Given the description of an element on the screen output the (x, y) to click on. 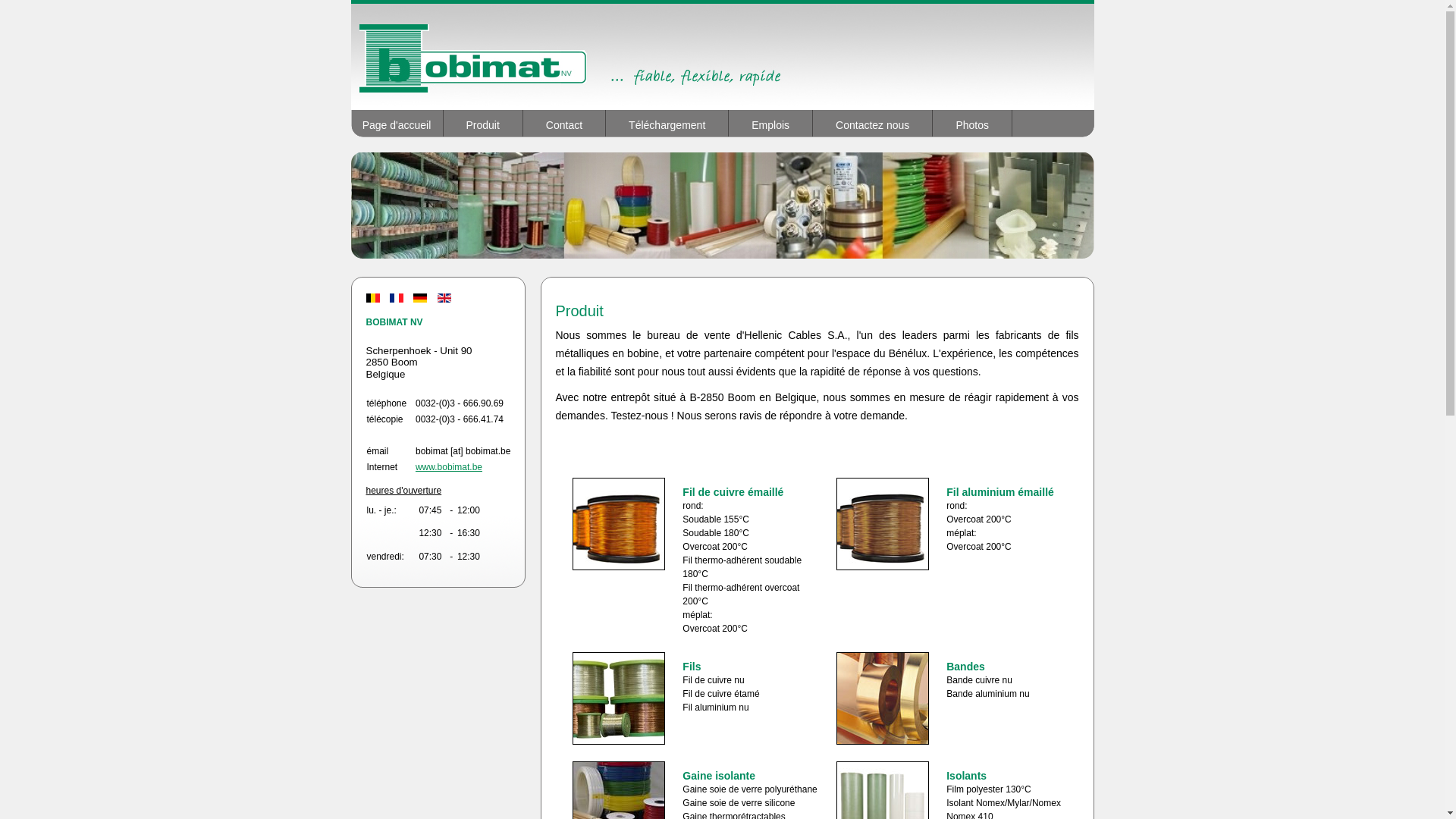
Deutsch Element type: hover (419, 297)
www.bobimat.be Element type: text (448, 466)
HELCA Metall Element type: hover (721, 56)
Nederlands Element type: hover (372, 297)
Page d'accueil Element type: text (396, 122)
Contact Element type: text (564, 122)
Photos Element type: text (972, 122)
Contactez nous Element type: text (872, 122)
Emplois Element type: text (770, 122)
Produit Element type: text (482, 122)
English (UK) Element type: hover (444, 297)
